Given the description of an element on the screen output the (x, y) to click on. 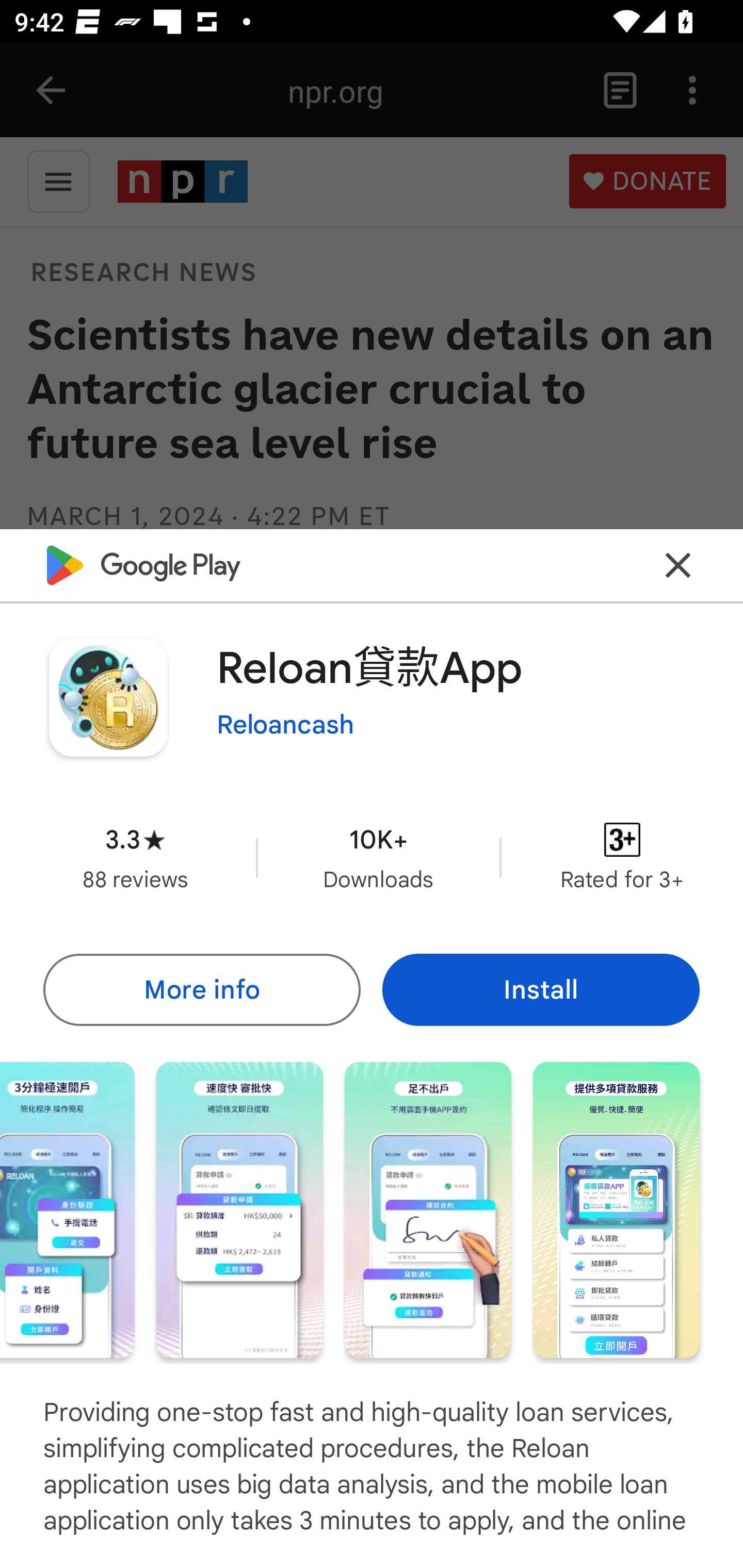
Close (677, 565)
Image of app or game icon for Reloan貸款App (108, 696)
Reloancash (284, 724)
More info (201, 989)
Install (540, 989)
Screenshot "2" of "5" (67, 1209)
Screenshot "3" of "5" (239, 1209)
Screenshot "4" of "5" (427, 1209)
Screenshot "5" of "5" (615, 1209)
